Given the description of an element on the screen output the (x, y) to click on. 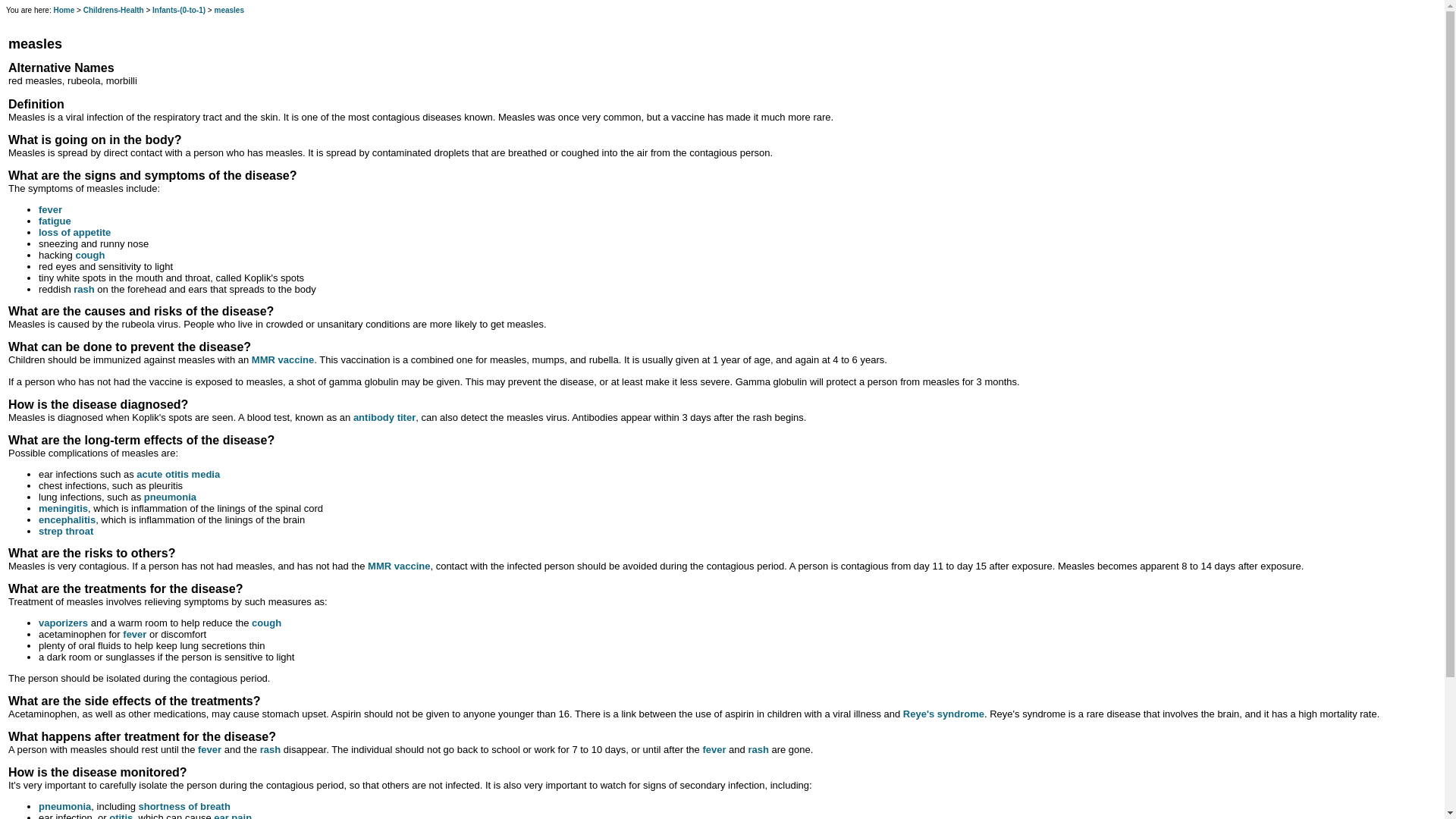
fatigue (55, 220)
encephalitis (67, 519)
otitis (120, 815)
loss of appetite (74, 232)
shortness of breath (184, 806)
MMR vaccine (398, 565)
rash (84, 288)
cough (266, 622)
pneumonia (170, 496)
antibody titre (383, 417)
fever (209, 749)
fever (134, 633)
humidifiers and health (63, 622)
measles, mumps, and rubella vaccine (282, 359)
measles, mumps, and rubella vaccine (398, 565)
